Given the description of an element on the screen output the (x, y) to click on. 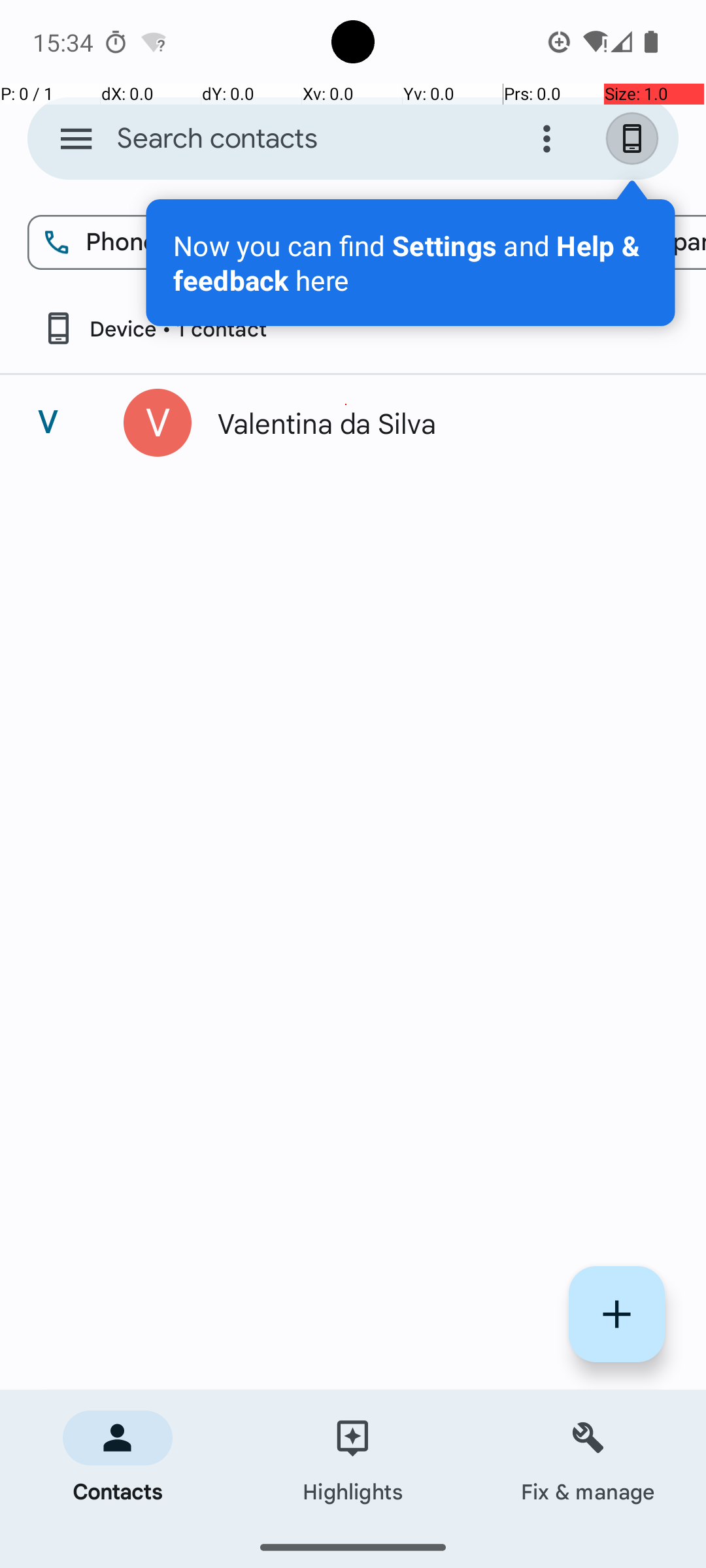
Device • 1 contact Element type: android.widget.TextView (153, 328)
Valentina da Silva Element type: android.widget.TextView (434, 422)
